Given the description of an element on the screen output the (x, y) to click on. 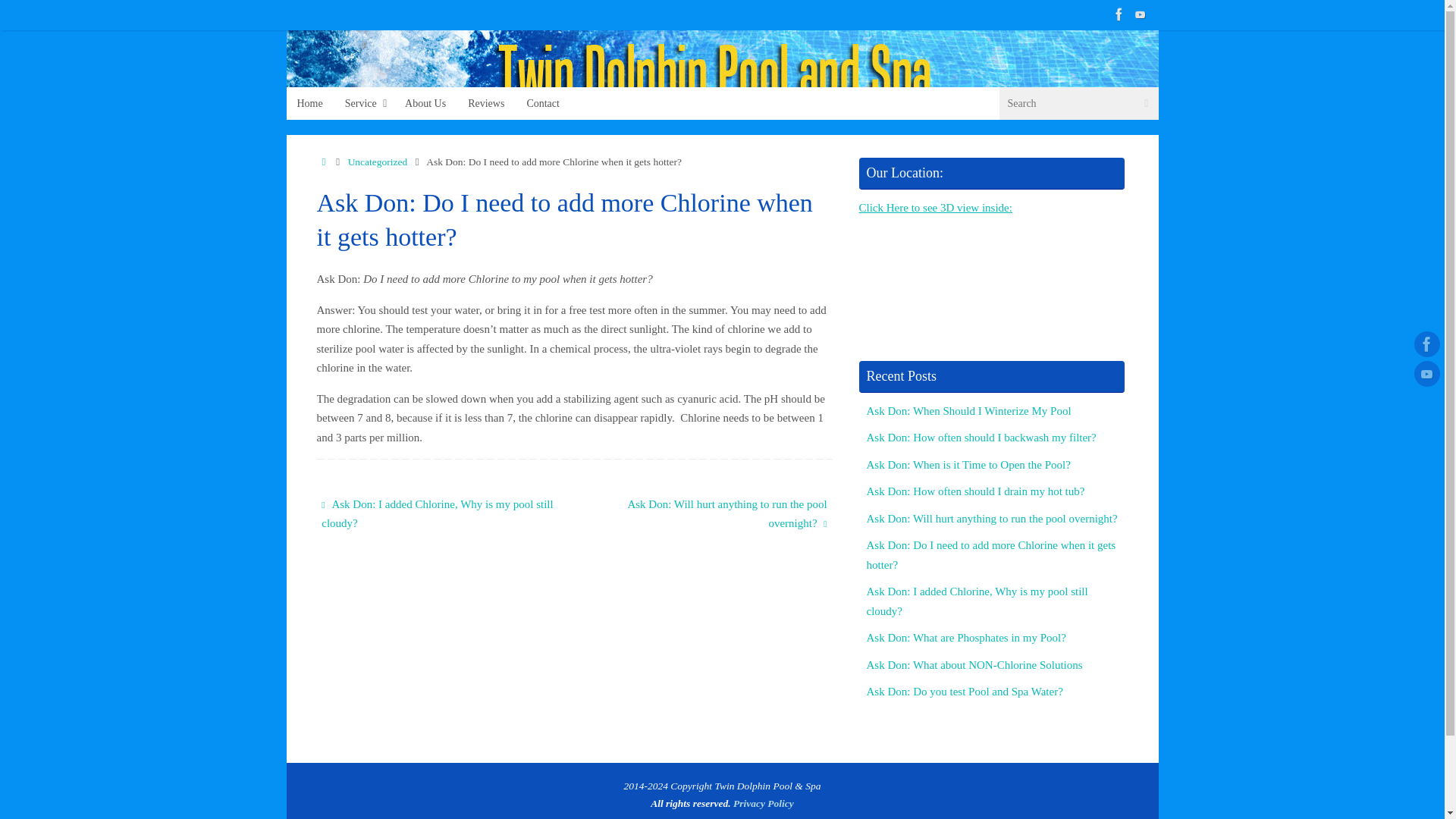
Ask Don: How often should I drain my hot tub? (975, 491)
Ask Don: When is it Time to Open the Pool? (968, 464)
Ask Don: I added Chlorine, Why is my pool still cloudy? (976, 601)
Reviews (486, 102)
YouTube (1140, 14)
Facebook (1426, 344)
Ask Don: I added Chlorine, Why is my pool still cloudy? (438, 514)
About Us (425, 102)
Service (364, 102)
Click Here to see 3D view inside: (935, 207)
Home (324, 161)
YouTube (1426, 373)
Ask Don: When Should I Winterize My Pool (968, 410)
Ask Don: What are Phosphates in my Pool? (965, 637)
Uncategorized (377, 161)
